Given the description of an element on the screen output the (x, y) to click on. 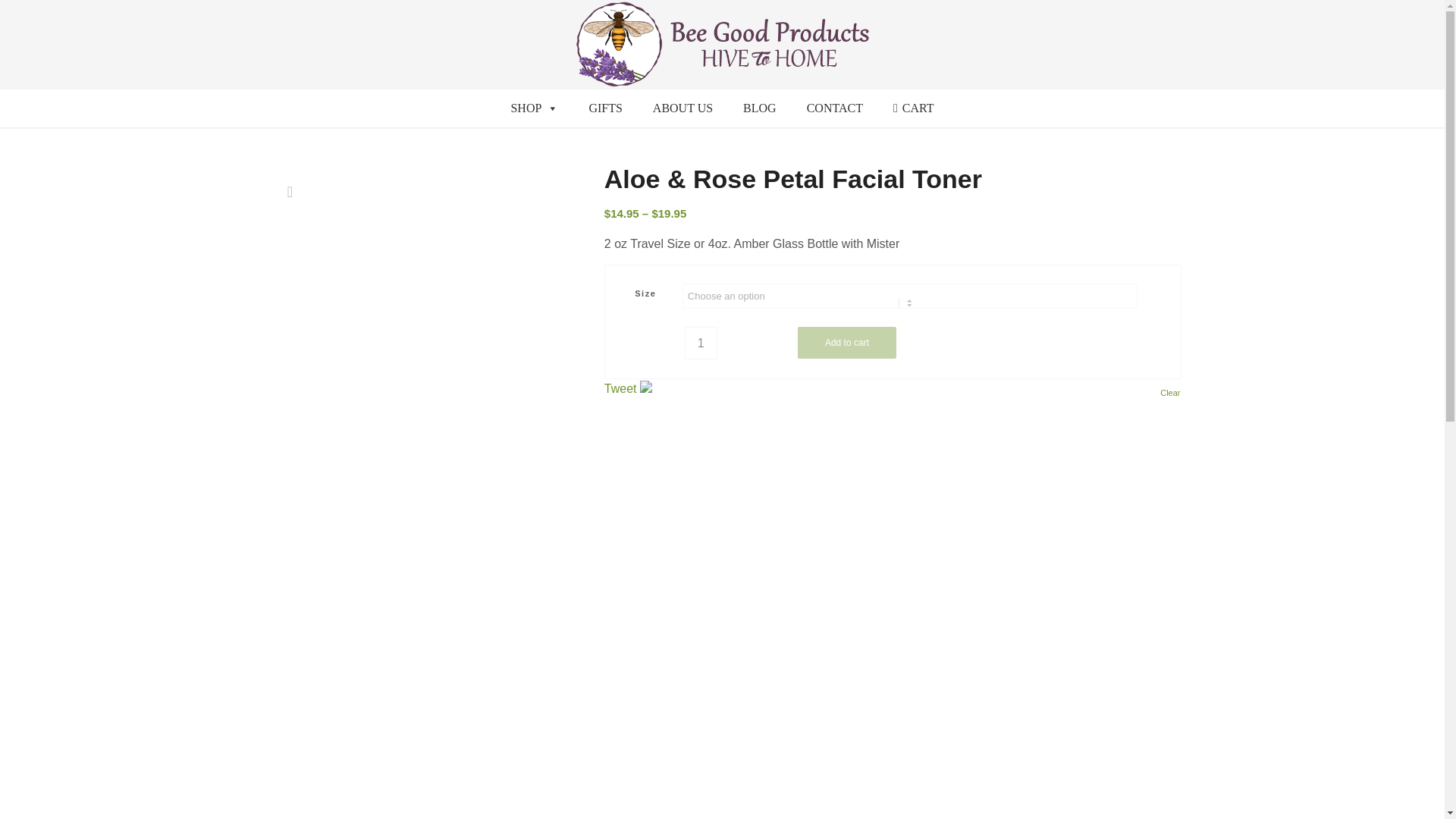
CONTACT (834, 108)
1 (700, 342)
ABOUT US (682, 108)
logo (721, 44)
SHOP (534, 108)
GIFTS (605, 108)
CART (913, 108)
Add to cart (846, 342)
BLOG (760, 108)
Tweet (620, 388)
